Given the description of an element on the screen output the (x, y) to click on. 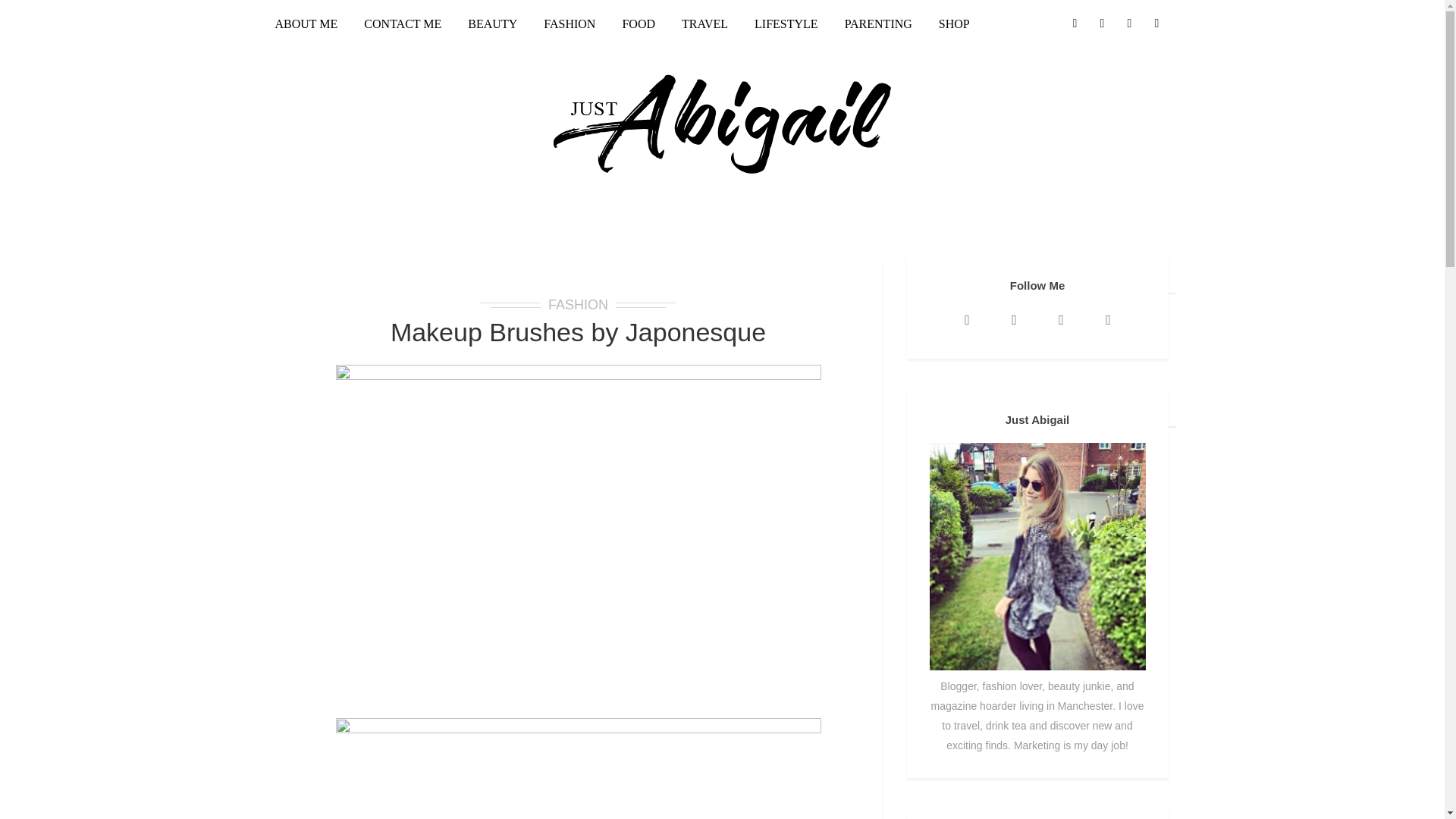
Makeup Brushes by Japonesque (577, 331)
FOOD (638, 25)
SHOP (954, 25)
PARENTING (877, 25)
Permanent Link to Makeup Brushes by Japonesque (577, 331)
CONTACT ME (402, 25)
LIFESTYLE (785, 25)
ABOUT ME (312, 25)
TRAVEL (704, 25)
FASHION (569, 25)
